Given the description of an element on the screen output the (x, y) to click on. 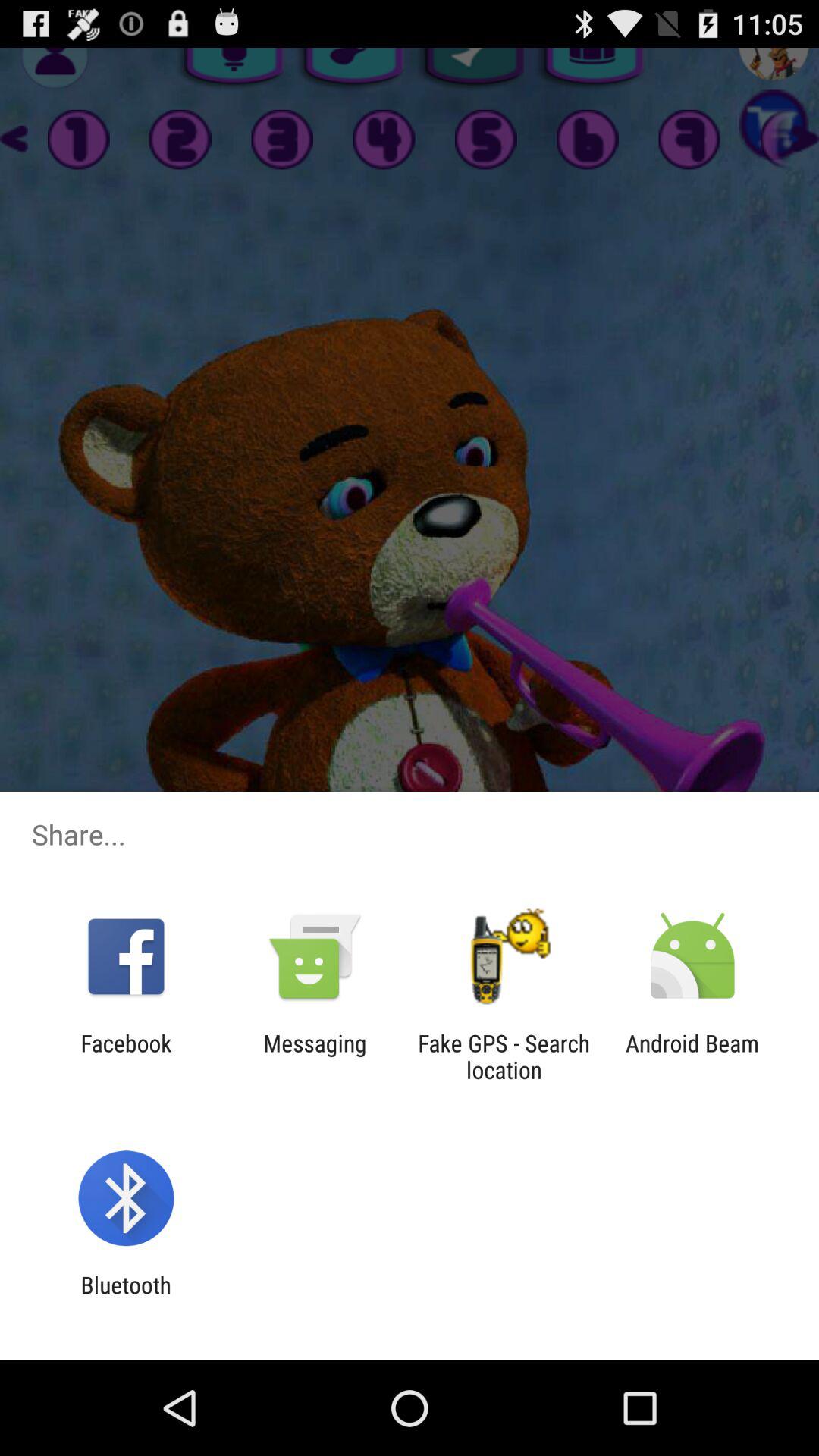
swipe until android beam (692, 1056)
